Given the description of an element on the screen output the (x, y) to click on. 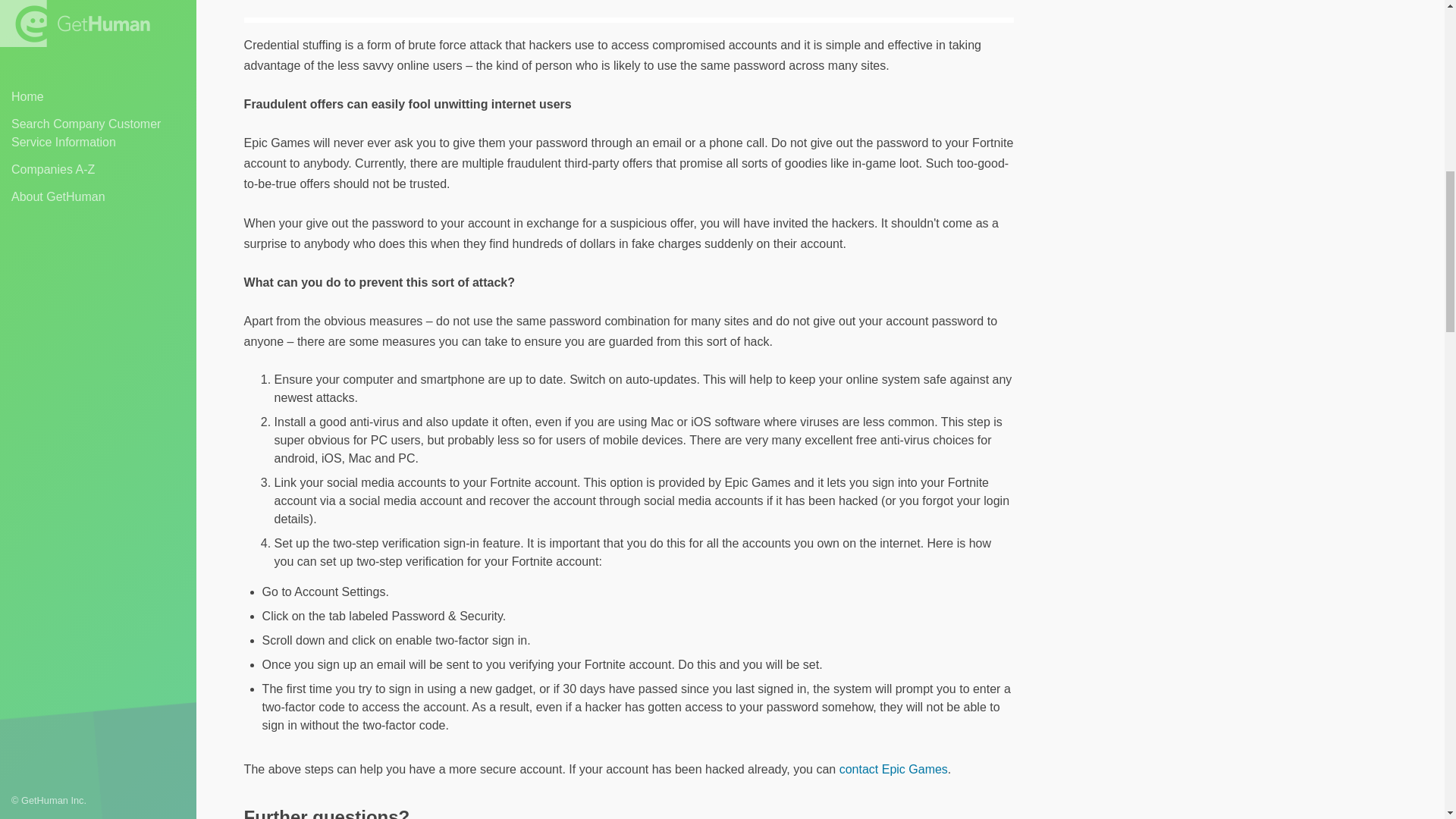
contact Epic Games (893, 768)
Advertisement (1238, 124)
